Given the description of an element on the screen output the (x, y) to click on. 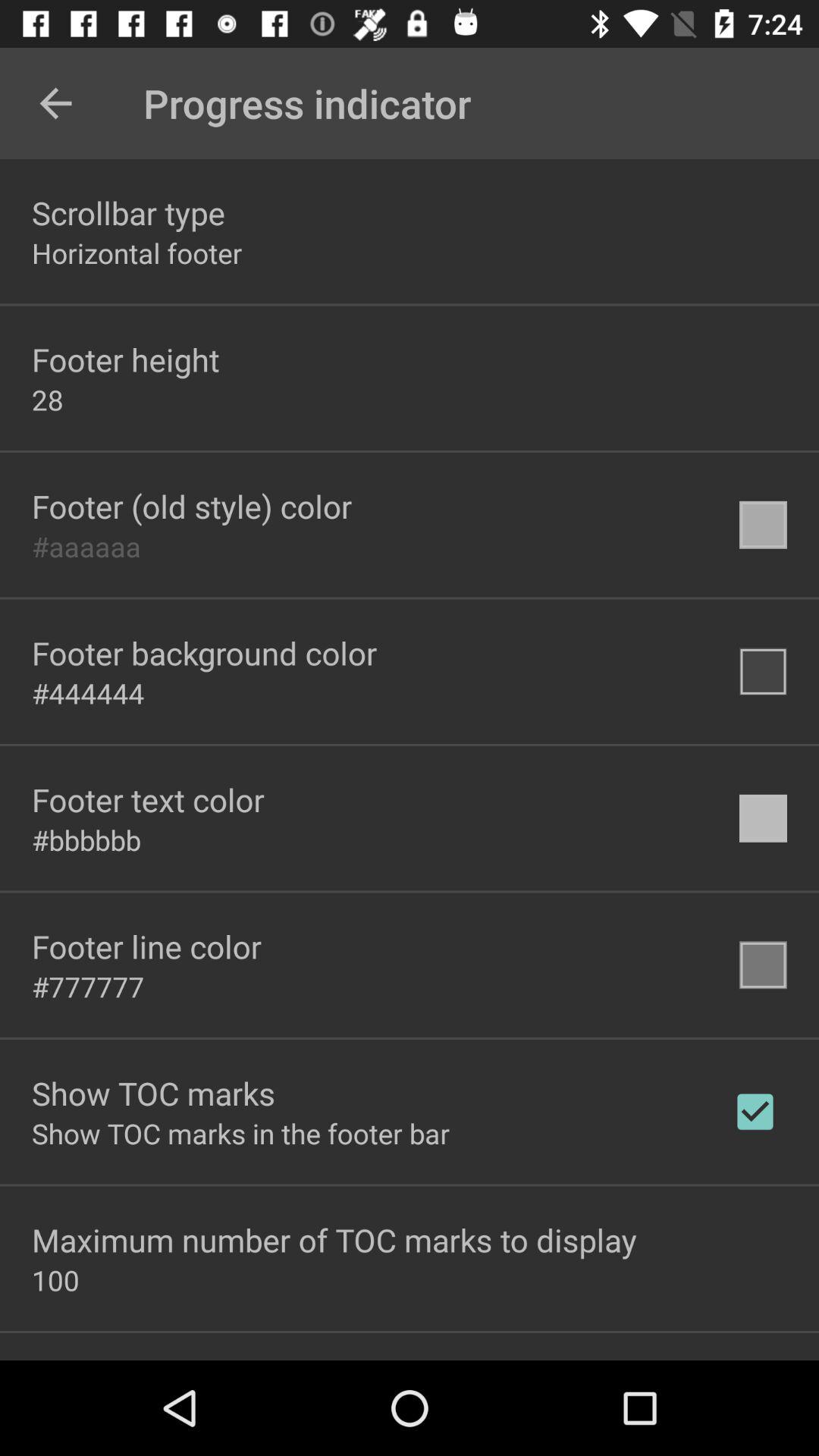
press icon above footer line color icon (86, 839)
